Given the description of an element on the screen output the (x, y) to click on. 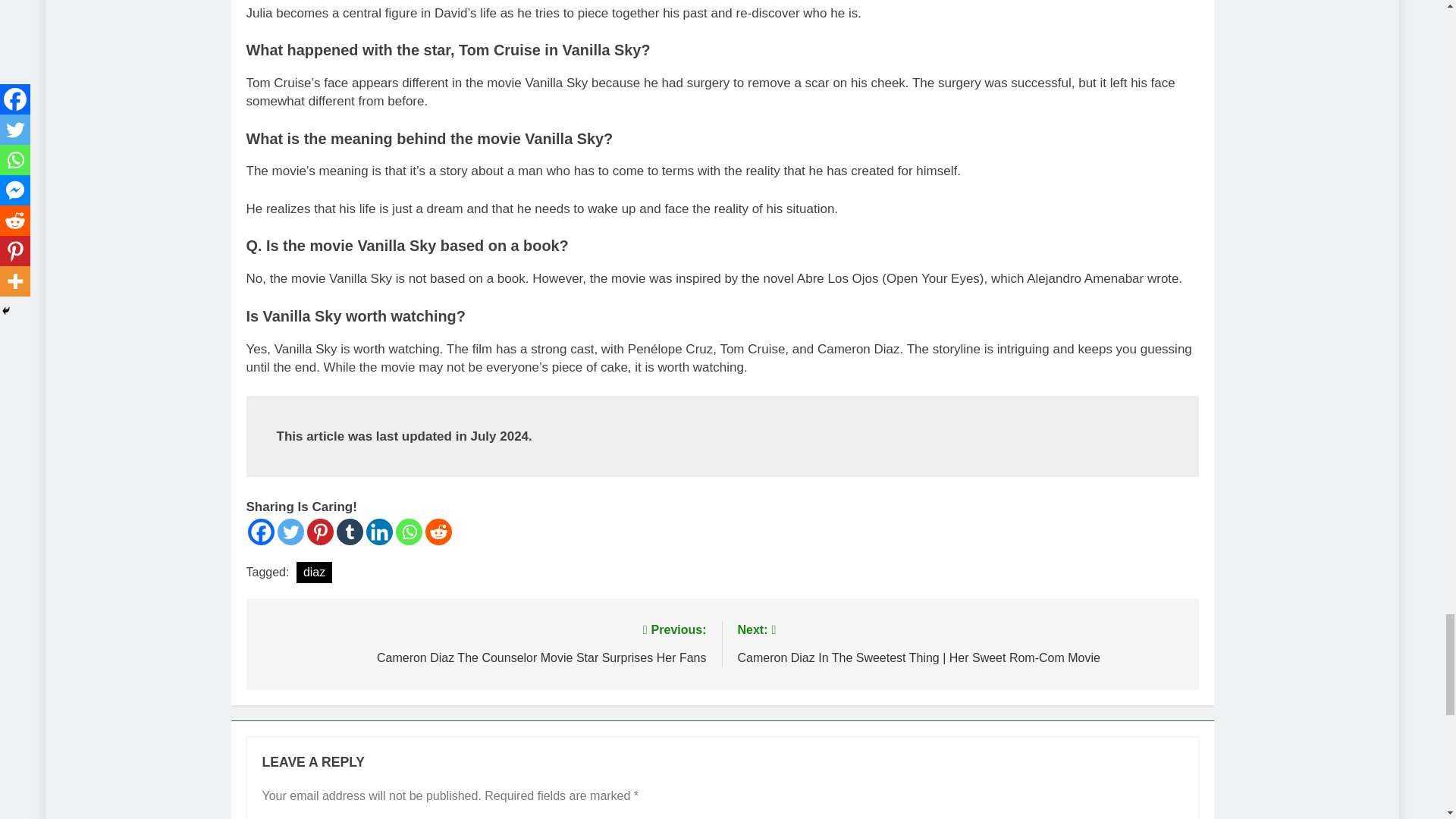
Facebook (260, 531)
diaz (314, 572)
Pinterest (319, 531)
Whatsapp (409, 531)
Linkedin (378, 531)
Twitter (291, 531)
Tumblr (349, 531)
Reddit (438, 531)
